Given the description of an element on the screen output the (x, y) to click on. 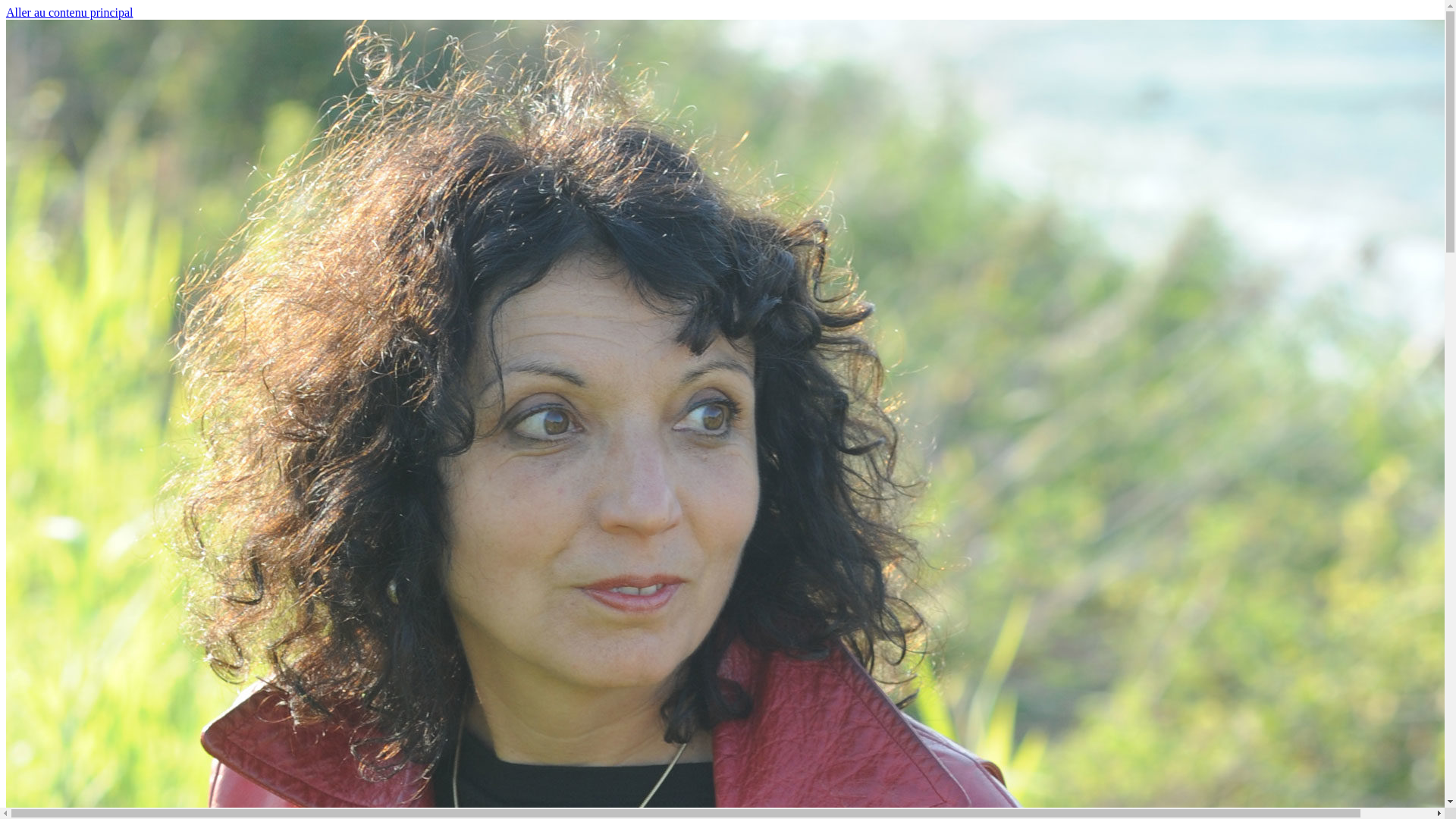
Aller au contenu principal Element type: text (69, 12)
